Given the description of an element on the screen output the (x, y) to click on. 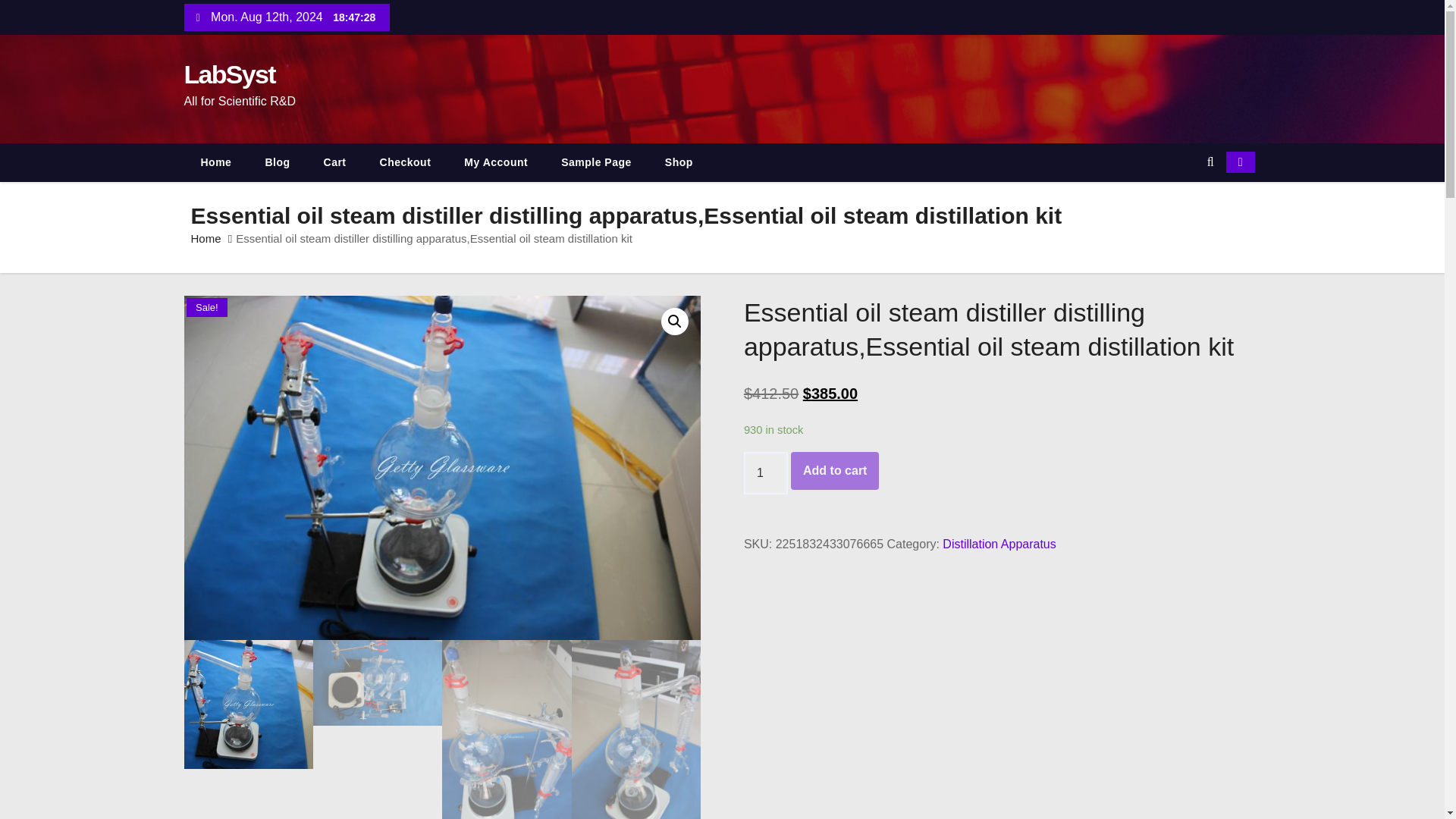
Blog (276, 162)
Qty (765, 473)
Distillation Apparatus (998, 543)
Home (215, 162)
Add to cart (834, 470)
Sample Page (595, 162)
Shop (678, 162)
LabSyst (229, 73)
Home (205, 237)
1 (765, 473)
